Given the description of an element on the screen output the (x, y) to click on. 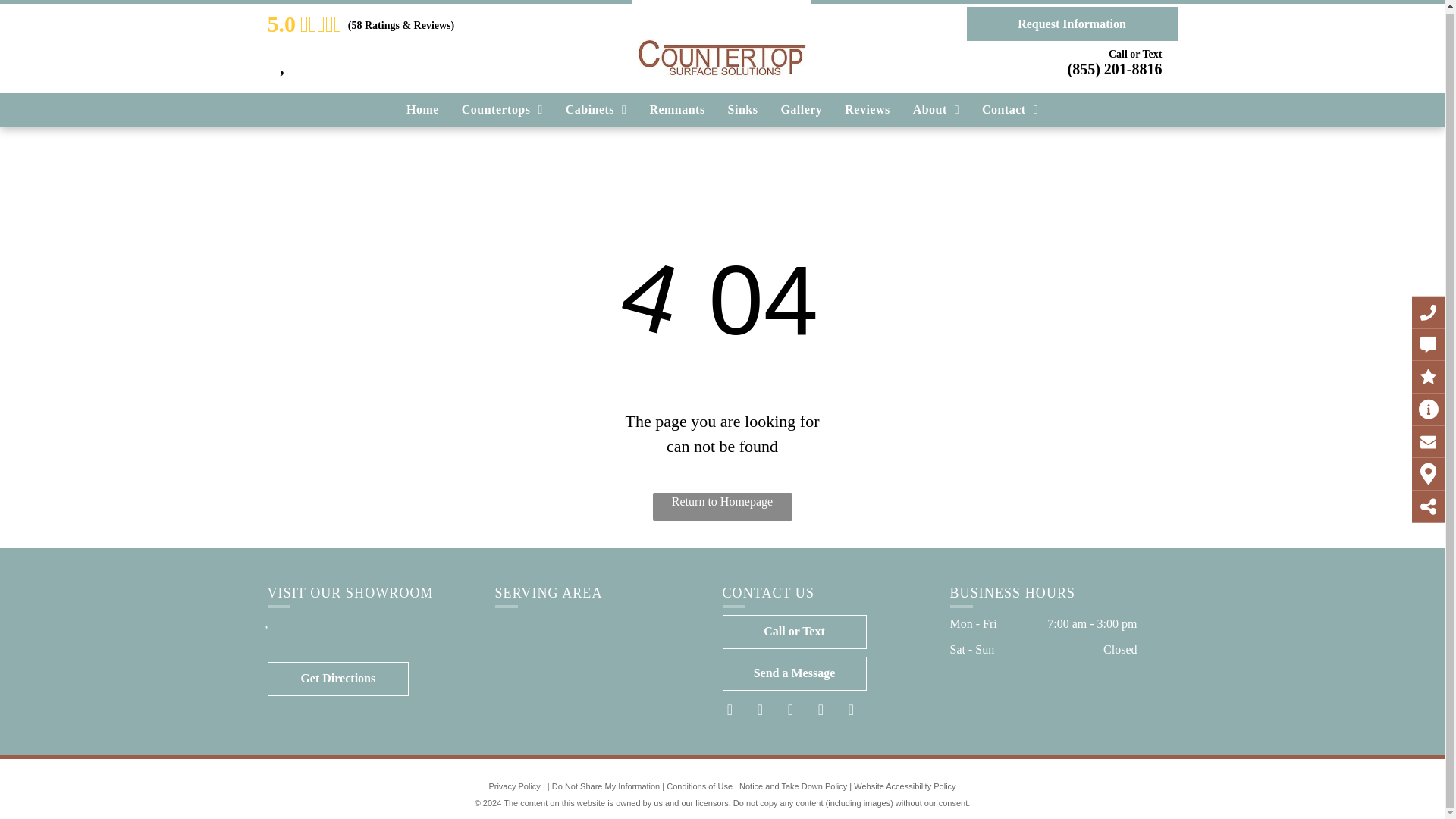
Send a Message (794, 673)
Call or Text (794, 632)
Sinks (743, 107)
Remnants (676, 107)
Home (421, 107)
Contact (1010, 107)
Return to Homepage (722, 506)
Get Directions (337, 678)
Cabinets (596, 107)
About (936, 107)
Request Information (1071, 21)
Reviews (866, 107)
Gallery (800, 107)
Countertops (501, 107)
